Given the description of an element on the screen output the (x, y) to click on. 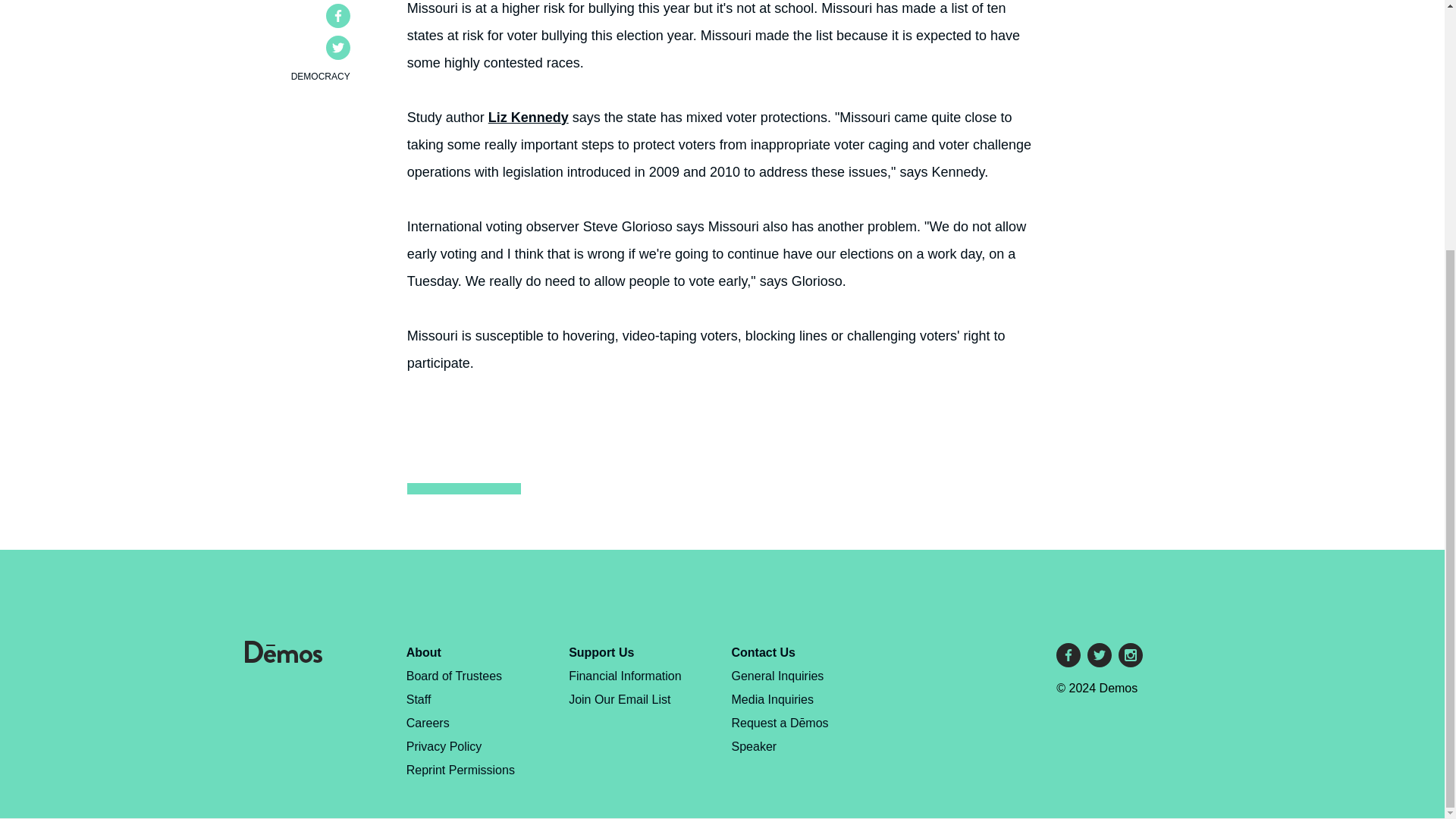
About (423, 652)
Twitter (1099, 654)
Instagram (1130, 654)
Facebook (1068, 654)
Careers (427, 722)
General Inquiries (778, 675)
Media Inquiries (772, 698)
Twitter (338, 47)
Privacy Policy (443, 746)
Board of Trustees (454, 675)
